Given the description of an element on the screen output the (x, y) to click on. 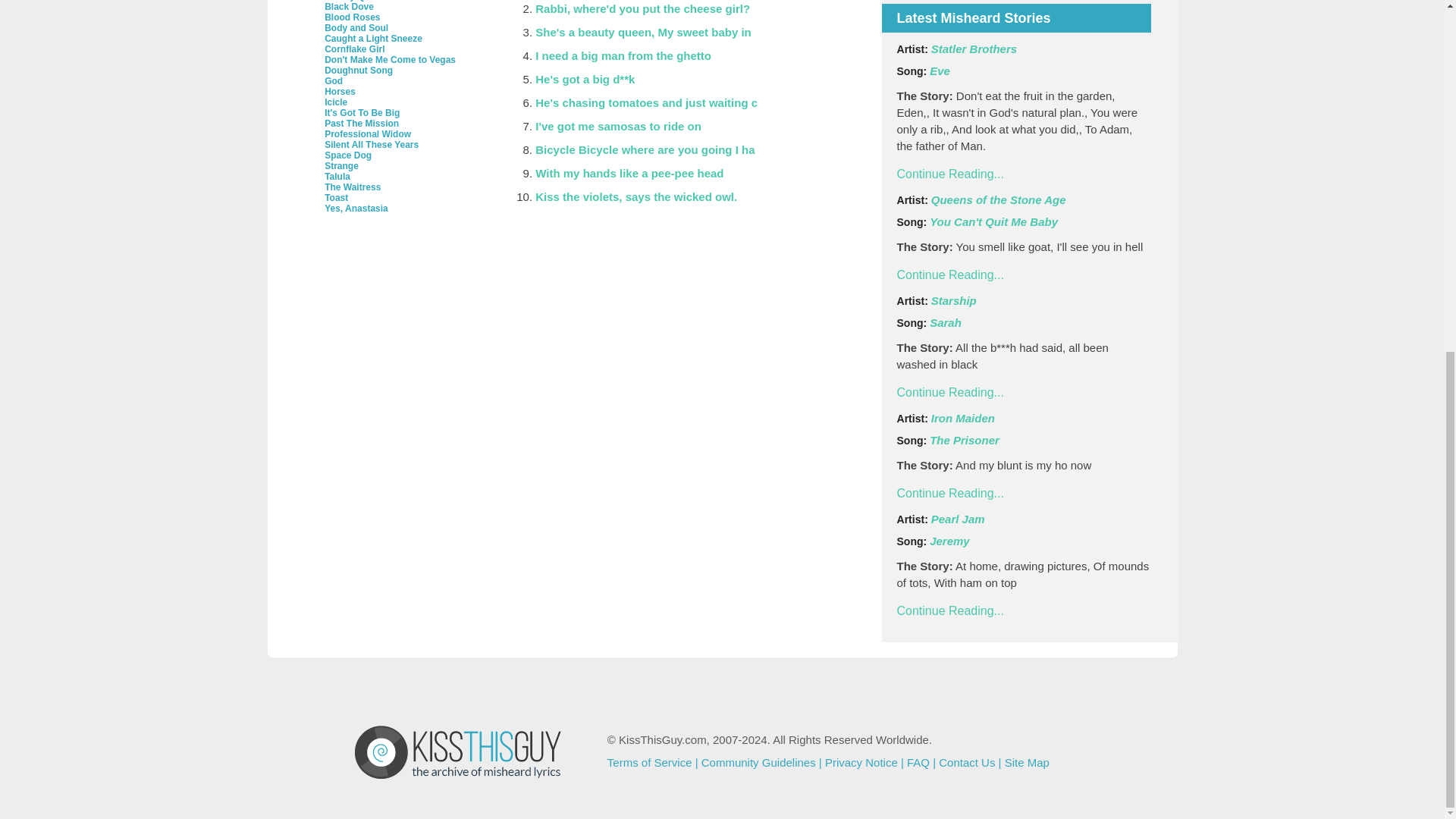
See misheard lyrics of Icicle by Tori Amos (335, 102)
See misheard lyrics of Blood Roses by Tori Amos (352, 17)
See misheard lyrics of Cornflake Girl by Tori Amos (354, 49)
See misheard lyrics of Caught a Light Sneeze by Tori Amos (373, 38)
See misheard lyrics of Horses by Tori Amos (339, 91)
See misheard lyrics of Beauty Queen by Tori Amos (354, 0)
See misheard lyrics of Black Dove by Tori Amos (349, 6)
See misheard lyrics of God by Tori Amos (333, 81)
See misheard lyrics of Doughnut Song by Tori Amos (358, 70)
See misheard lyrics of Body and Soul by Tori Amos (356, 27)
See misheard lyrics of It's Got To Be Big by Tori Amos (361, 112)
